Given the description of an element on the screen output the (x, y) to click on. 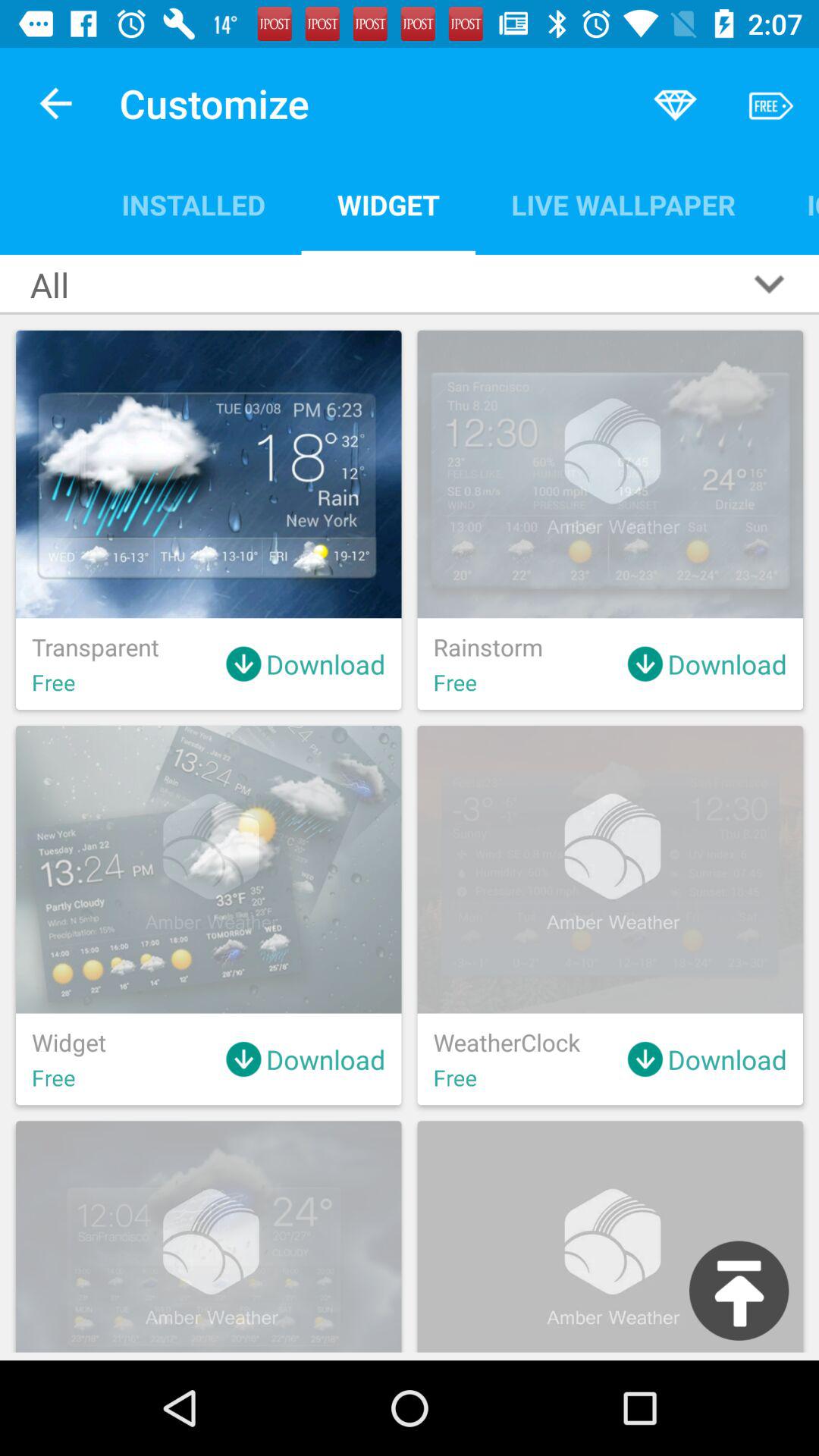
open the item next to the widget icon (193, 204)
